Given the description of an element on the screen output the (x, y) to click on. 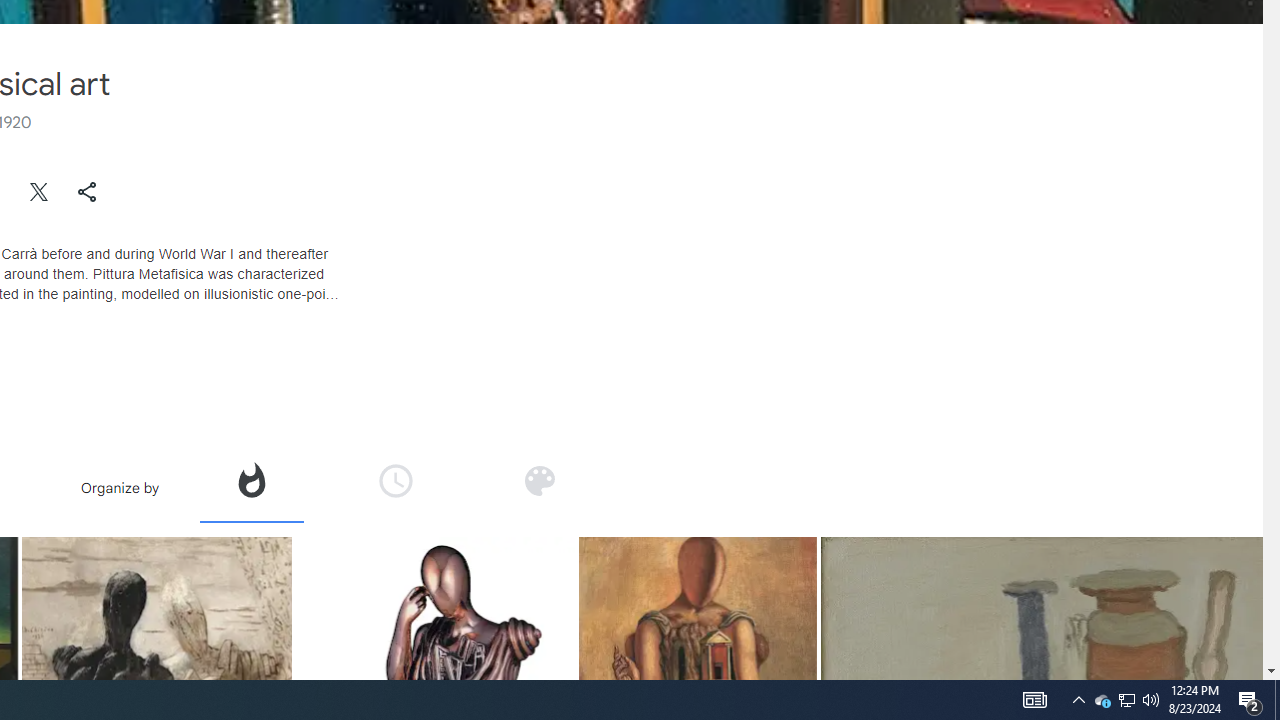
Organize by color (539, 480)
Organize by popularity (251, 487)
The solitary archaeologist (697, 615)
Organize by time (395, 487)
Share "Metaphysical art" (87, 191)
Organize by time (395, 480)
Share on Twitter (39, 191)
Organize by color (538, 487)
Organize by popularity (250, 480)
